Given the description of an element on the screen output the (x, y) to click on. 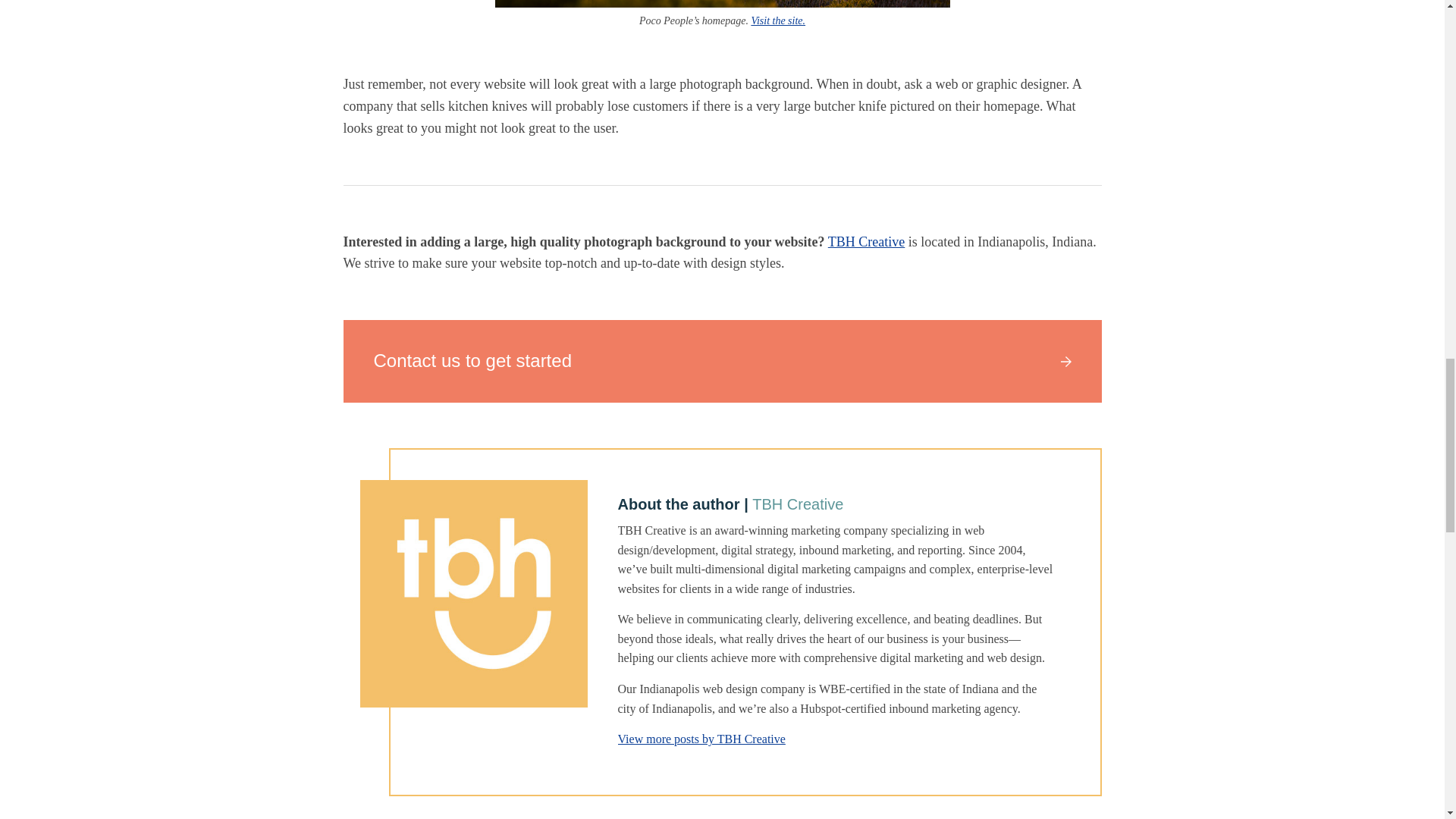
TBH Creative (866, 241)
View more posts by TBH Creative (700, 738)
Visit the site. (778, 20)
Contact us to get started (721, 361)
